Given the description of an element on the screen output the (x, y) to click on. 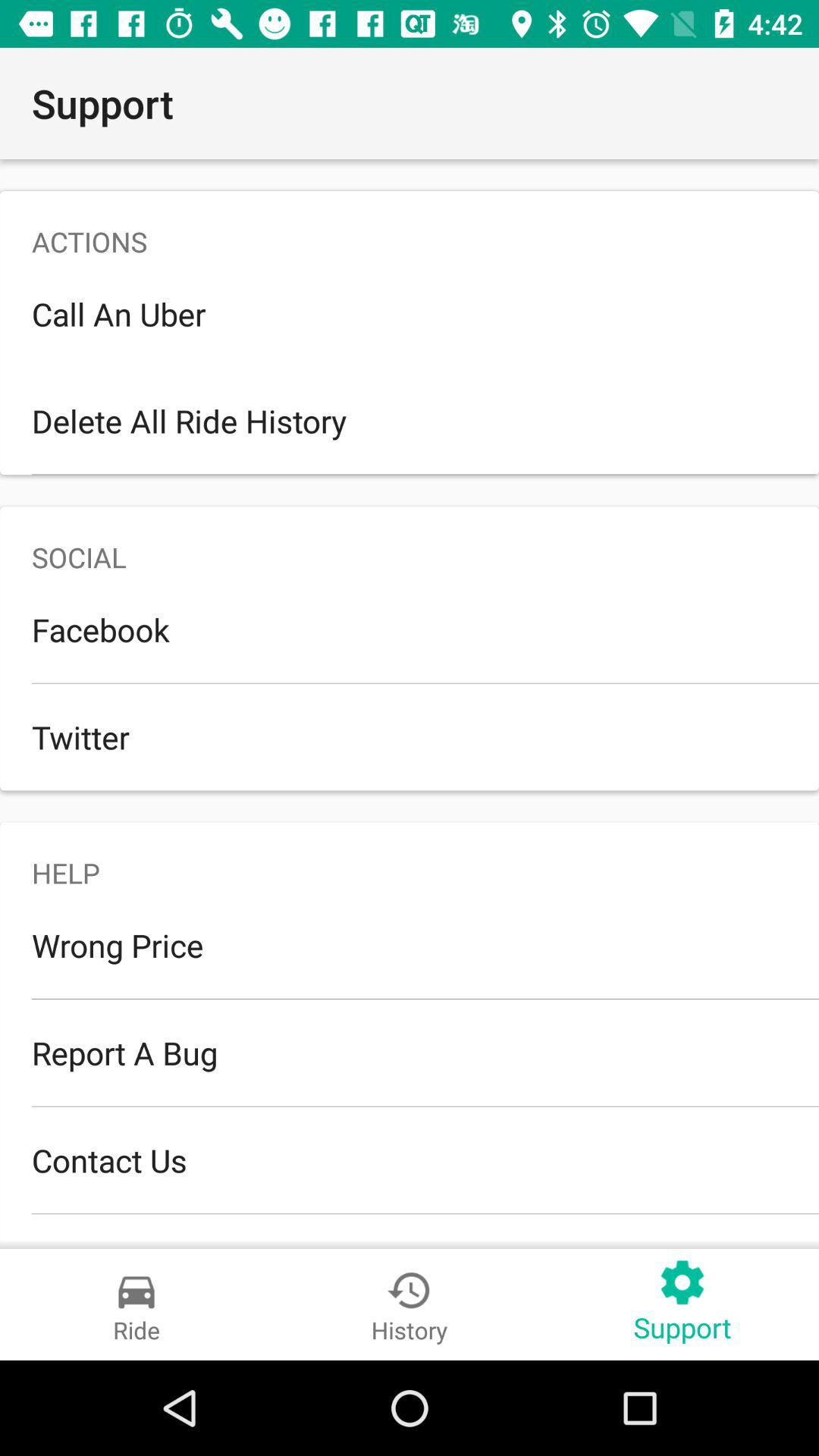
open the facebook (409, 629)
